Given the description of an element on the screen output the (x, y) to click on. 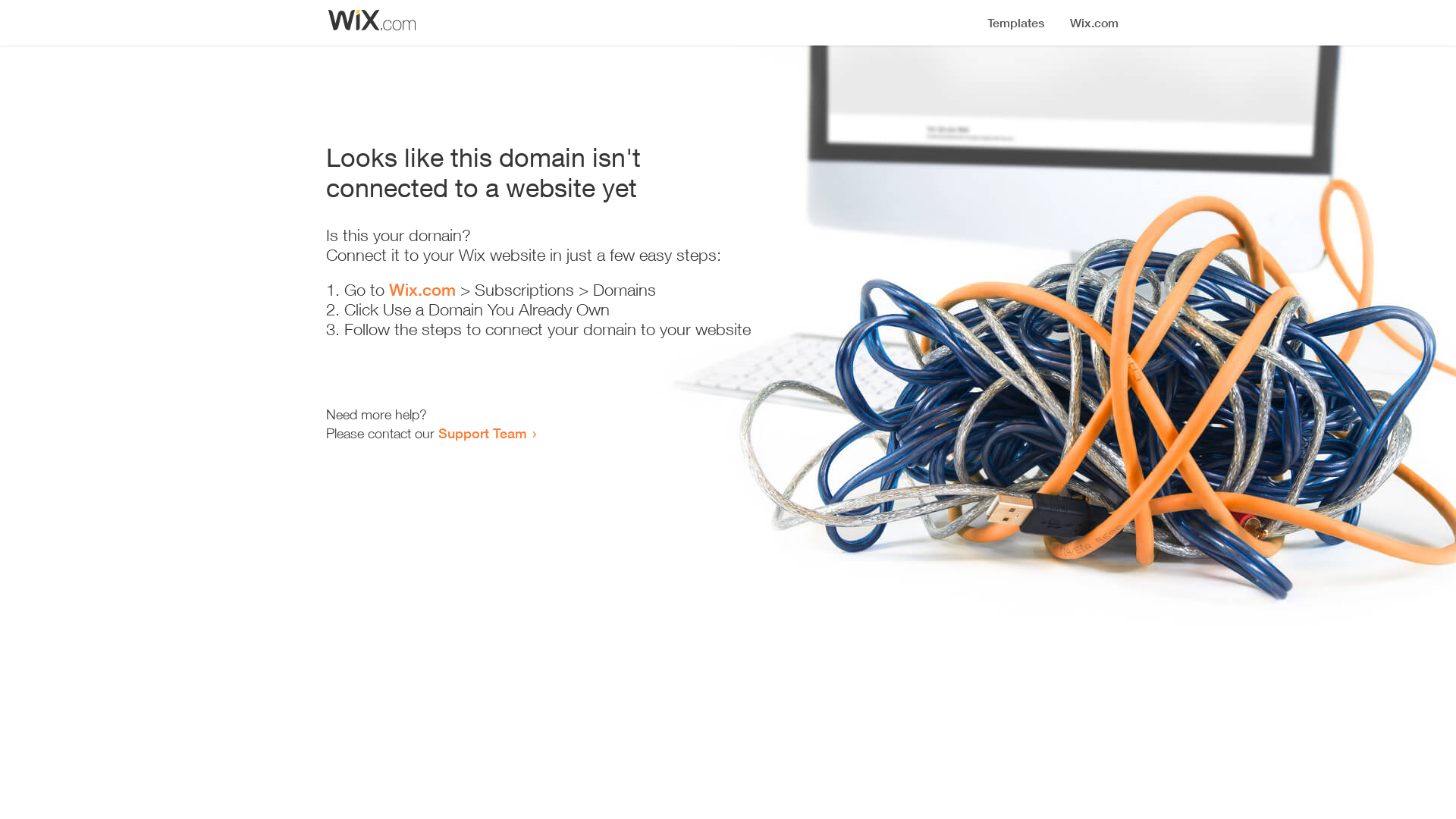
Wix.com Element type: text (422, 289)
Support Team Element type: text (482, 432)
